Given the description of an element on the screen output the (x, y) to click on. 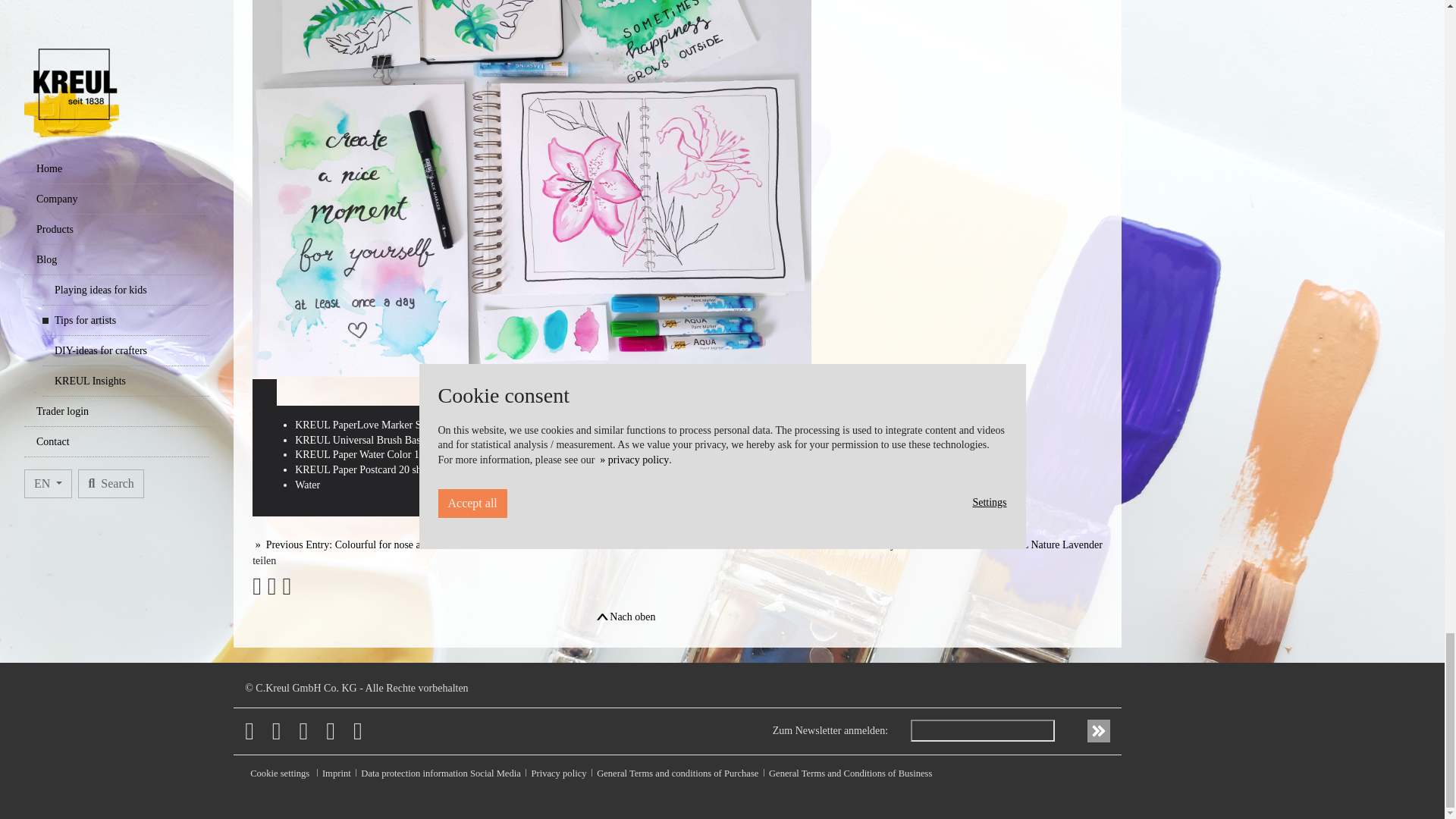
Next Entry: Colour of the month: KREUL Nature Lavender (968, 544)
Previous Entry: Colourful for nose and mouth (356, 544)
Anmelden (1098, 730)
